Given the description of an element on the screen output the (x, y) to click on. 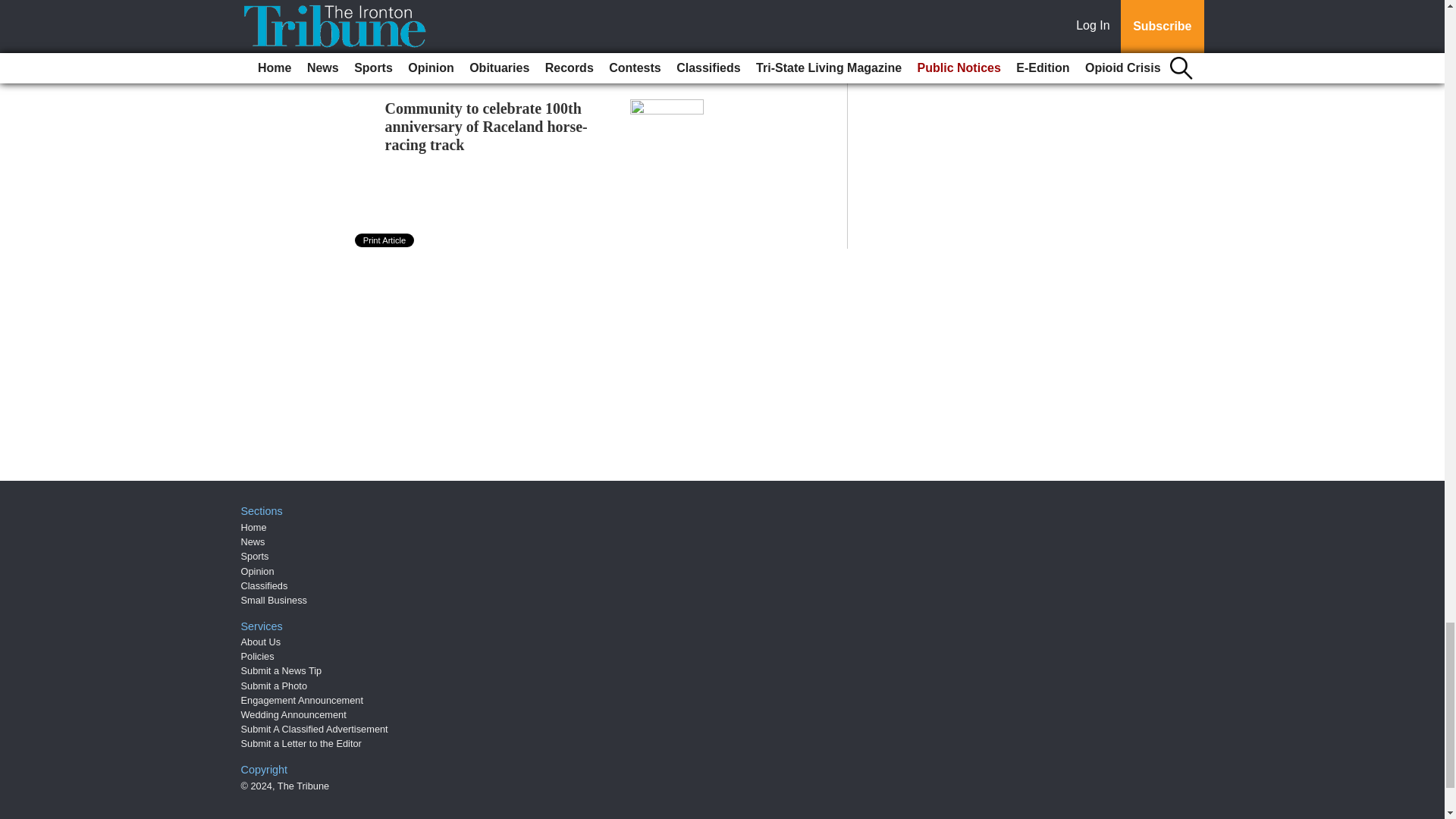
Home (253, 527)
News (252, 541)
Print Article (384, 240)
